Given the description of an element on the screen output the (x, y) to click on. 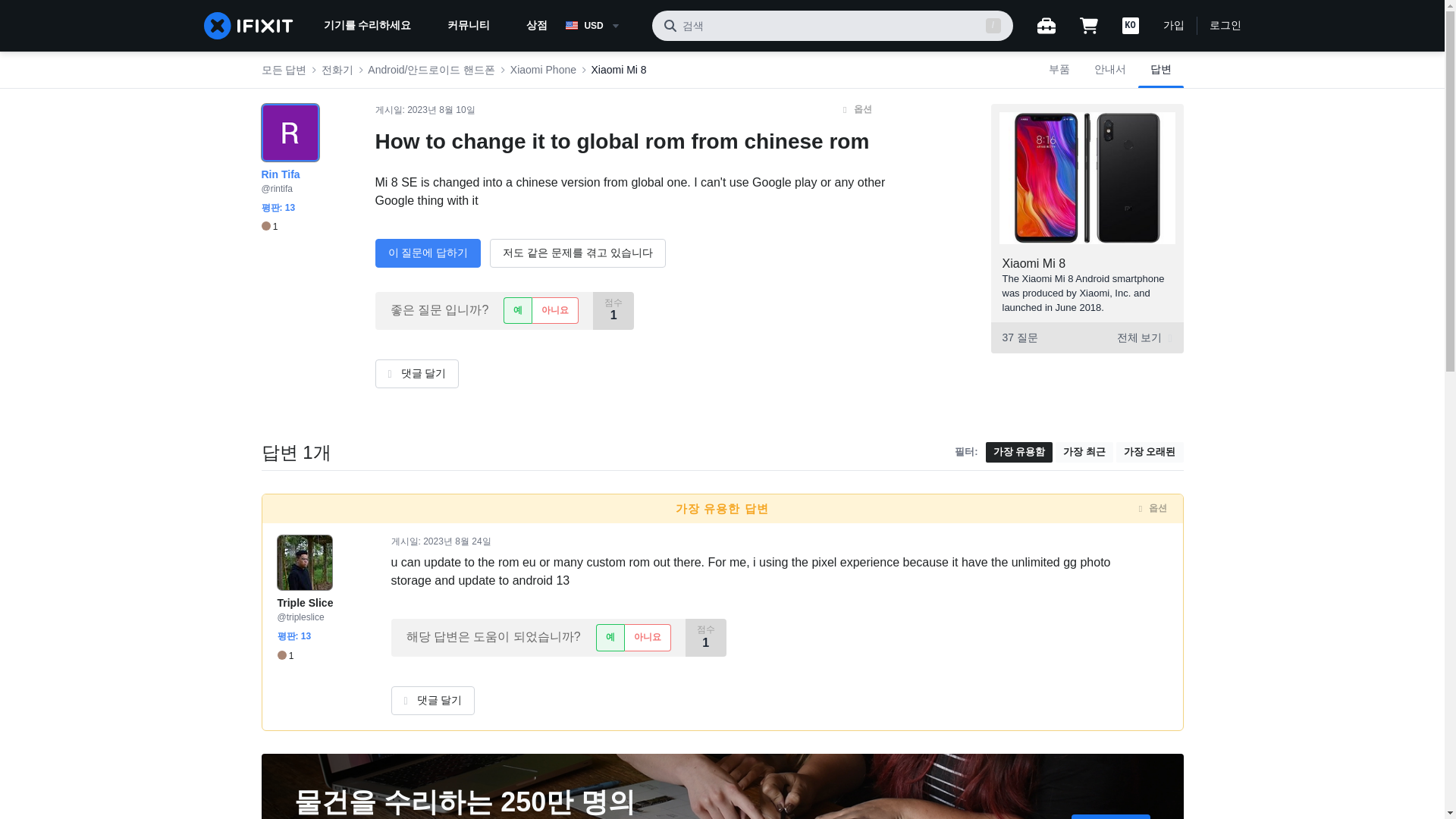
Xiaomi Mi 8 (618, 69)
Thu, 24 Aug 2023 19:58:50 -0700 (456, 541)
KO (1130, 25)
Xiaomi Phone (543, 69)
Thu, 10 Aug 2023 18:41:08 -0700 (440, 109)
Xiaomi Mi 8 (1034, 263)
1 (269, 226)
USD (602, 25)
